Given the description of an element on the screen output the (x, y) to click on. 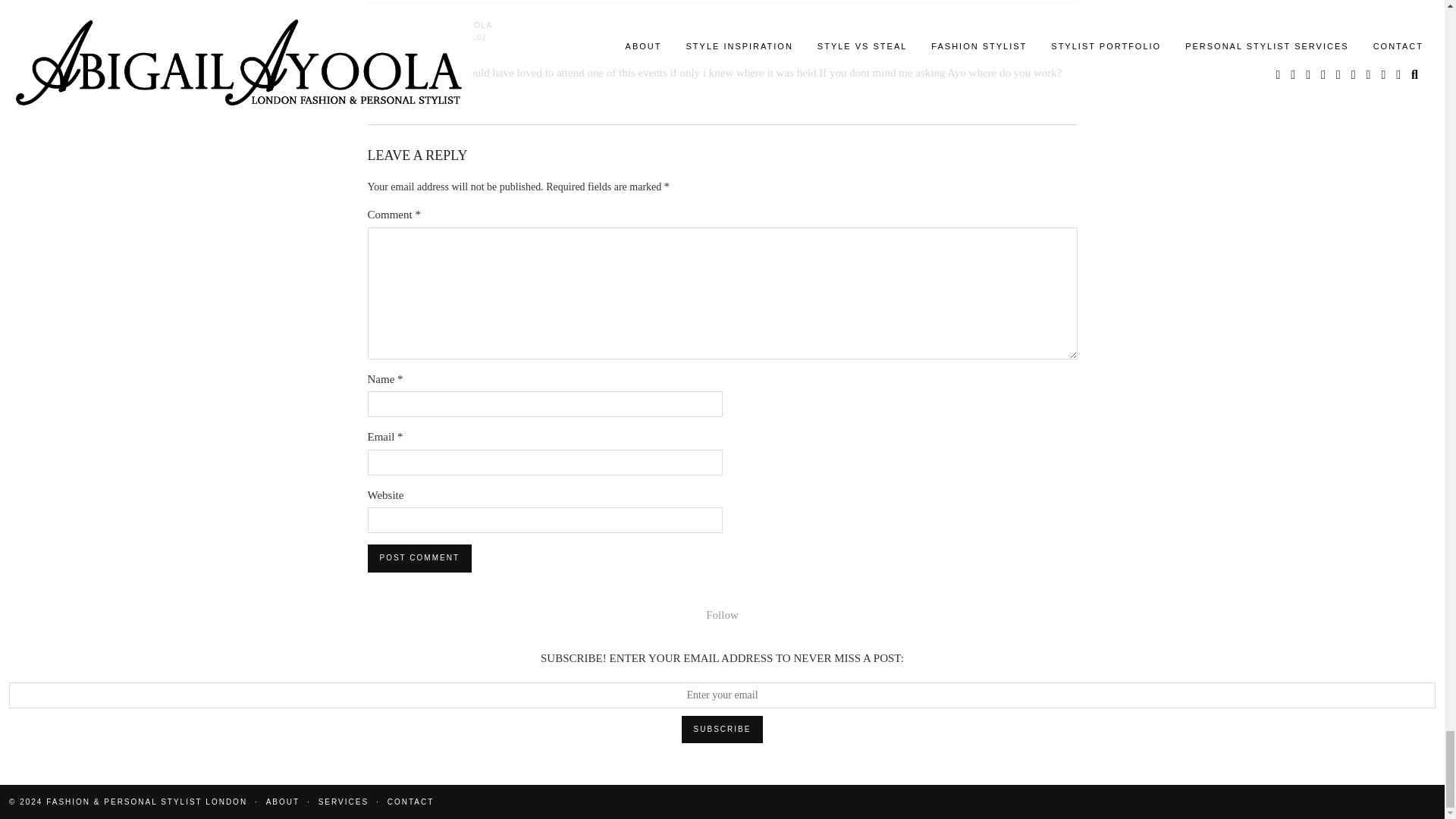
Post Comment (418, 557)
Subscribe (721, 728)
